Given the description of an element on the screen output the (x, y) to click on. 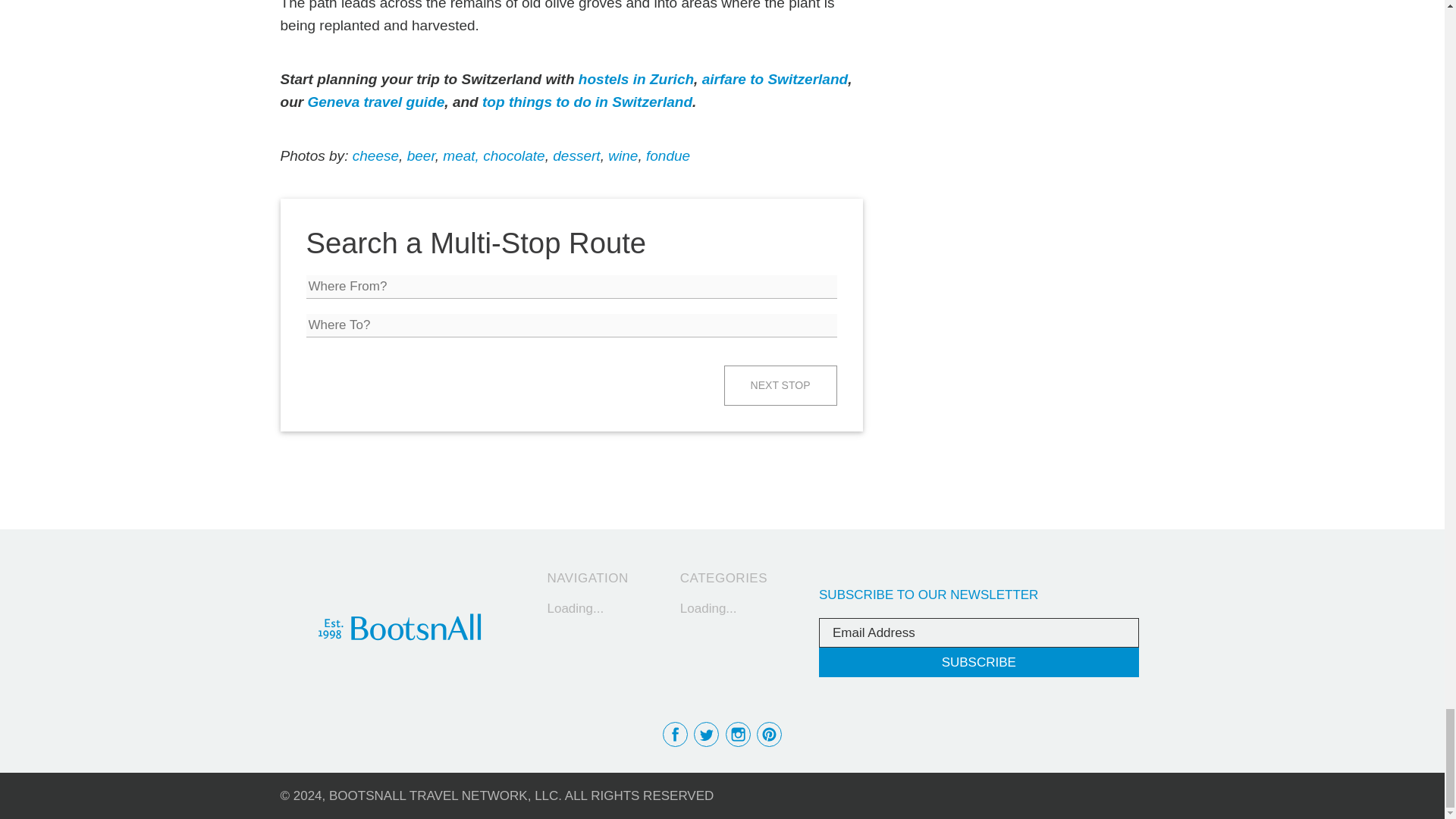
top things to do in Switzerland (587, 101)
hostels in Zurich (636, 78)
cheese (375, 155)
wine (622, 155)
chocolate (513, 155)
NEXT STOP (780, 385)
meat, (459, 155)
beer (421, 155)
fondue (668, 155)
airfare to Switzerland (774, 78)
SUBSCRIBE (978, 662)
Geneva travel guide (375, 101)
dessert (576, 155)
